Given the description of an element on the screen output the (x, y) to click on. 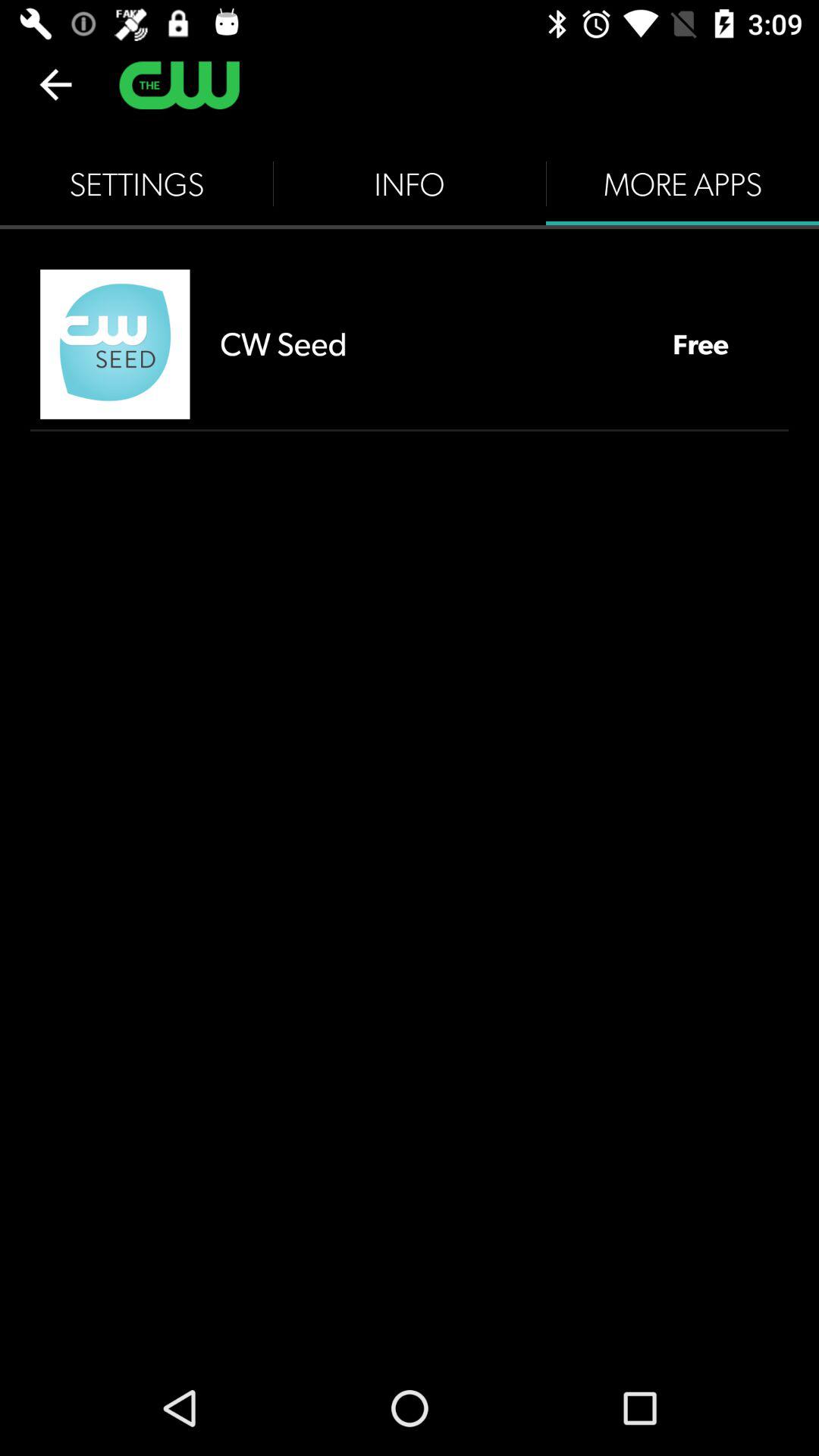
choose the settings (136, 184)
